Given the description of an element on the screen output the (x, y) to click on. 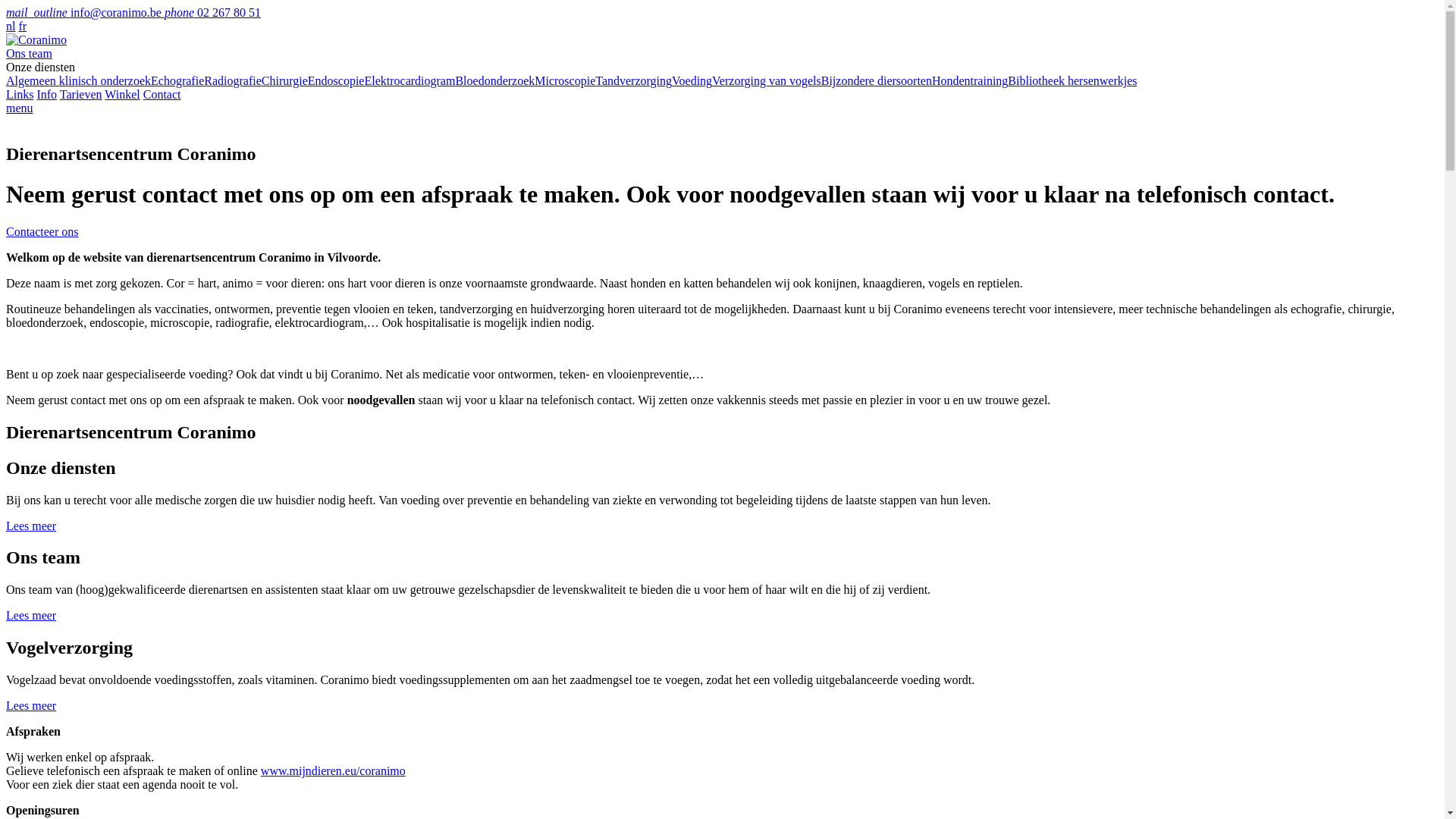
Voeding Element type: text (691, 80)
Bloedonderzoek Element type: text (494, 80)
Bibliotheek hersenwerkjes Element type: text (1071, 80)
Tandverzorging Element type: text (633, 80)
Lees meer Element type: text (31, 524)
Coranimo Element type: hover (36, 39)
www.mijndieren.eu/coranimo Element type: text (332, 770)
Lees meer Element type: text (31, 614)
Ons team Element type: text (29, 53)
Endoscopie Element type: text (335, 80)
Links Element type: text (19, 93)
Algemeen klinisch onderzoek Element type: text (78, 80)
Info Element type: text (46, 93)
Verzorging van vogels Element type: text (766, 80)
Bijzondere diersoorten Element type: text (876, 80)
nl Element type: text (10, 25)
Microscopie Element type: text (564, 80)
Elektrocardiogram Element type: text (409, 80)
Radiografie Element type: text (232, 80)
Contact Element type: text (162, 93)
phone 02 267 80 51 Element type: text (212, 12)
Tarieven Element type: text (80, 93)
menu Element type: text (19, 107)
Chirurgie Element type: text (284, 80)
Contacteer ons Element type: text (42, 231)
Hondentraining Element type: text (969, 80)
Winkel Element type: text (121, 93)
fr Element type: text (22, 25)
Lees meer Element type: text (31, 705)
Echografie Element type: text (176, 80)
mail_outline info@coranimo.be Element type: text (85, 12)
